Given the description of an element on the screen output the (x, y) to click on. 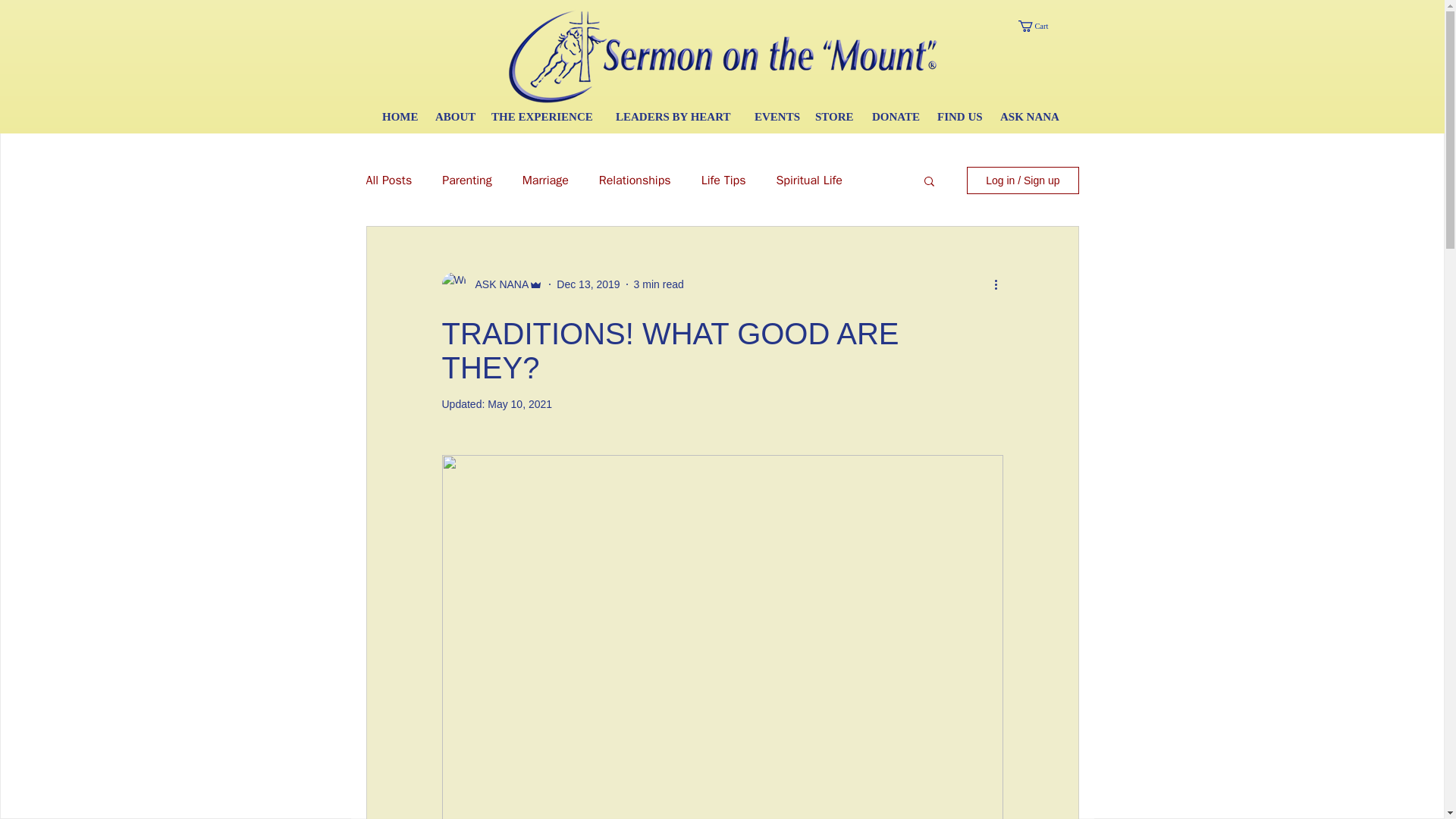
Spiritual Life (809, 180)
ABOUT (455, 116)
Dec 13, 2019 (588, 283)
Life Tips (723, 180)
LEADERS BY HEART (677, 116)
May 10, 2021 (519, 404)
ASK NANA (1028, 116)
Parenting (467, 180)
FIND US (961, 116)
THE EXPERIENCE (545, 116)
